Given the description of an element on the screen output the (x, y) to click on. 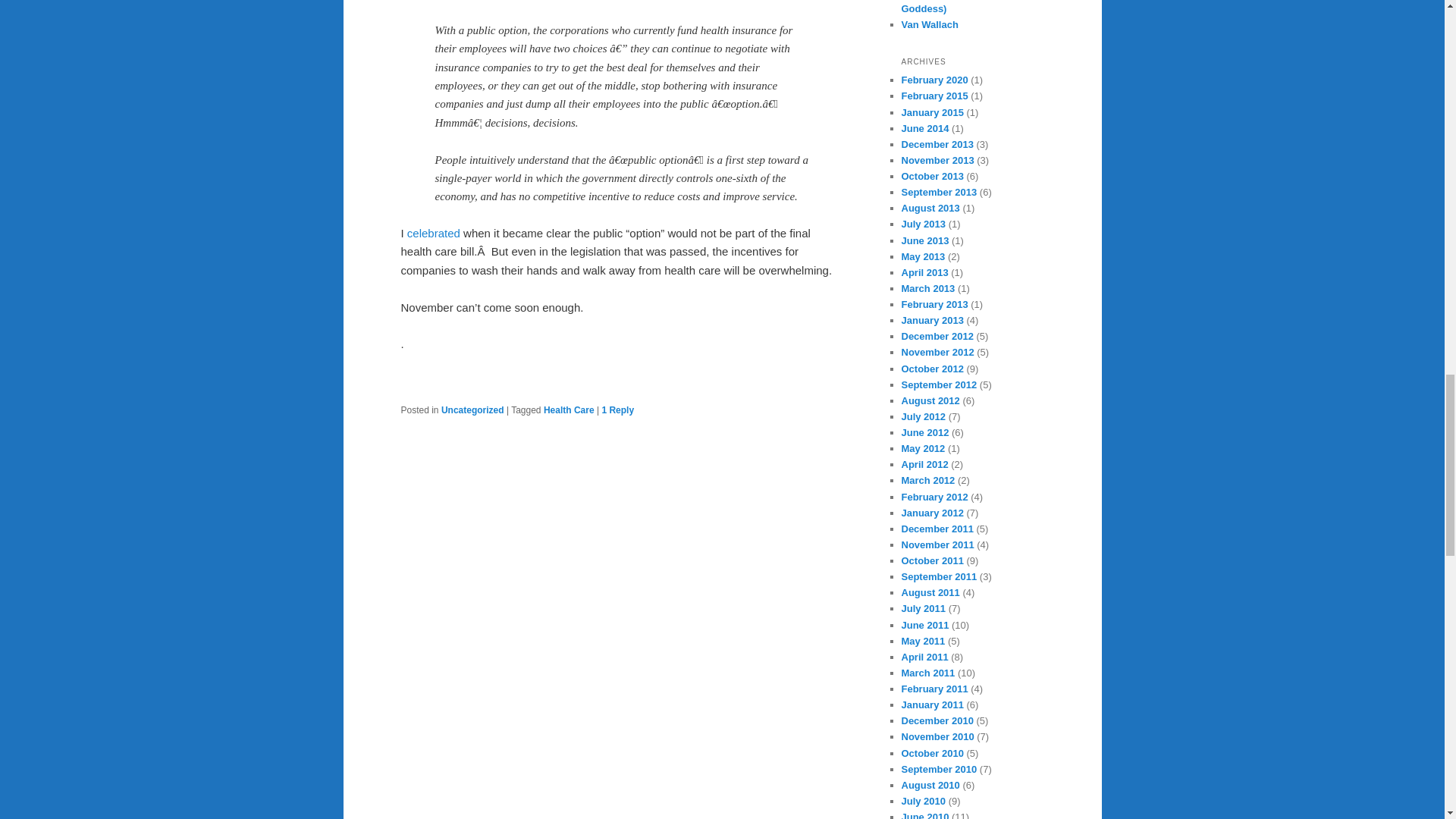
1 Reply (617, 409)
Health Care (568, 409)
celebrated (433, 232)
Uncategorized (472, 409)
